Given the description of an element on the screen output the (x, y) to click on. 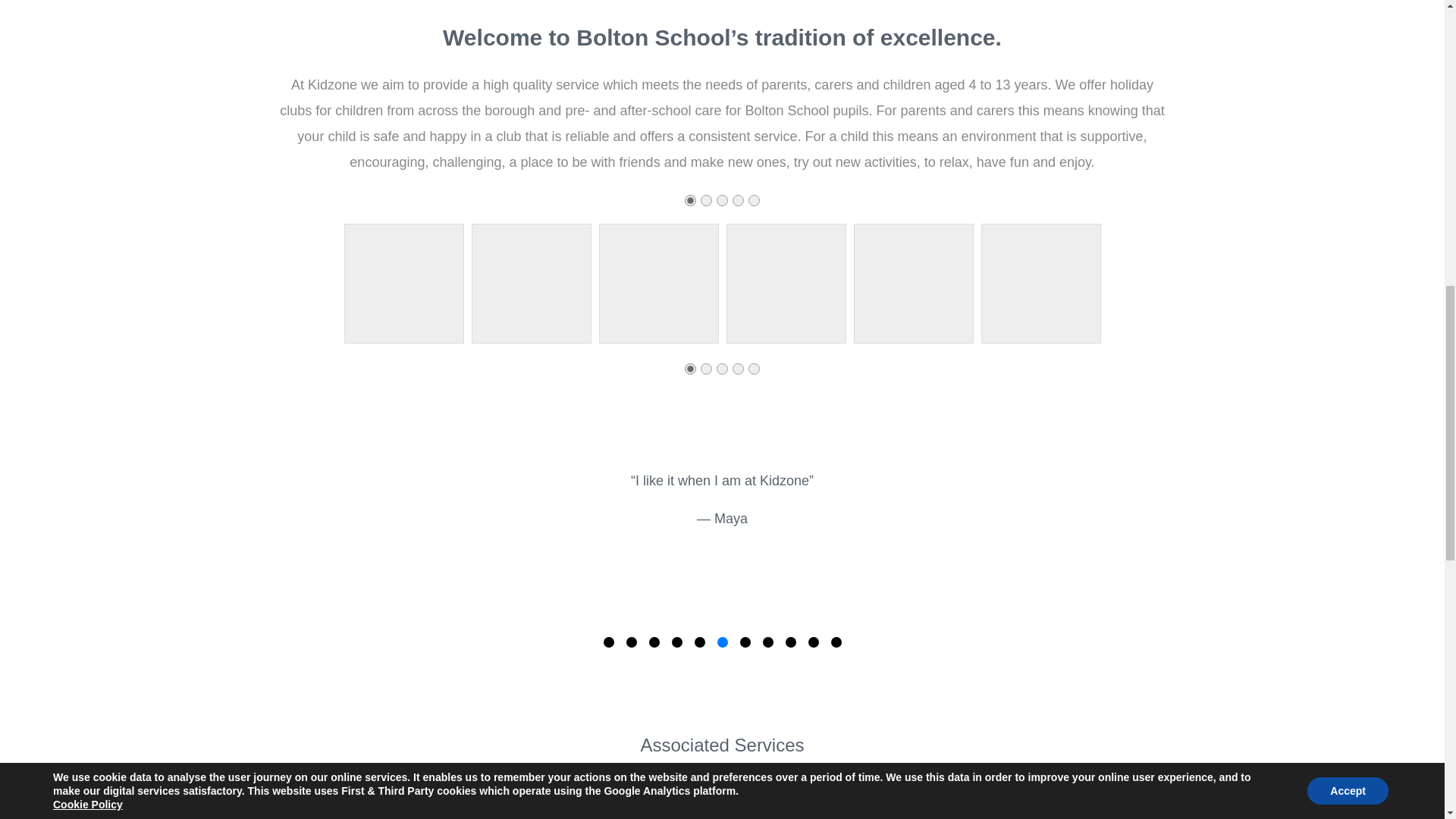
Page 2 (738, 368)
Page 3 (722, 368)
Page 1 (722, 200)
Page 5 (689, 200)
Page 3 (705, 368)
Page 2 (705, 200)
